Given the description of an element on the screen output the (x, y) to click on. 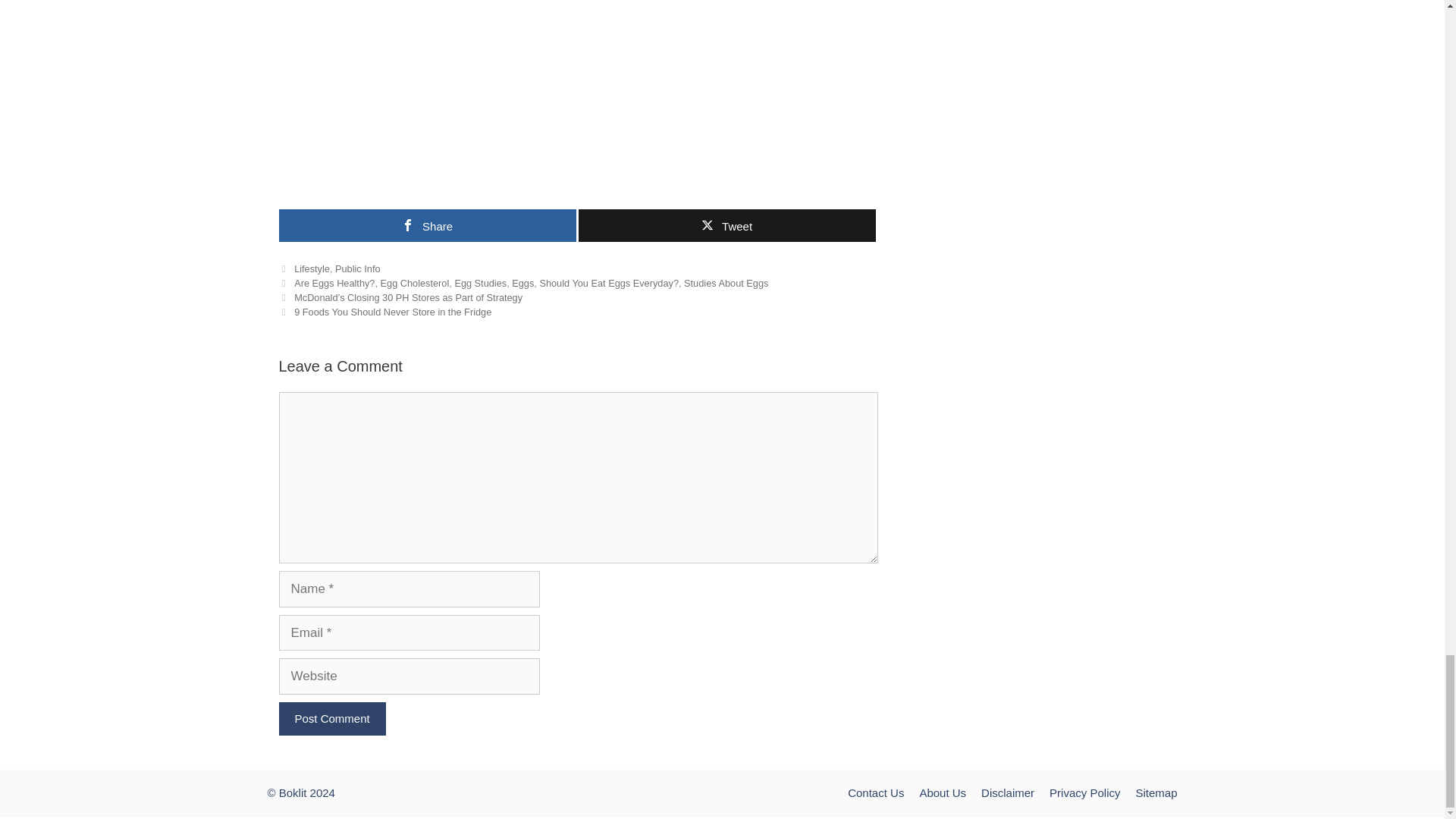
Share (427, 225)
Post Comment (332, 718)
Tweet (726, 225)
